Given the description of an element on the screen output the (x, y) to click on. 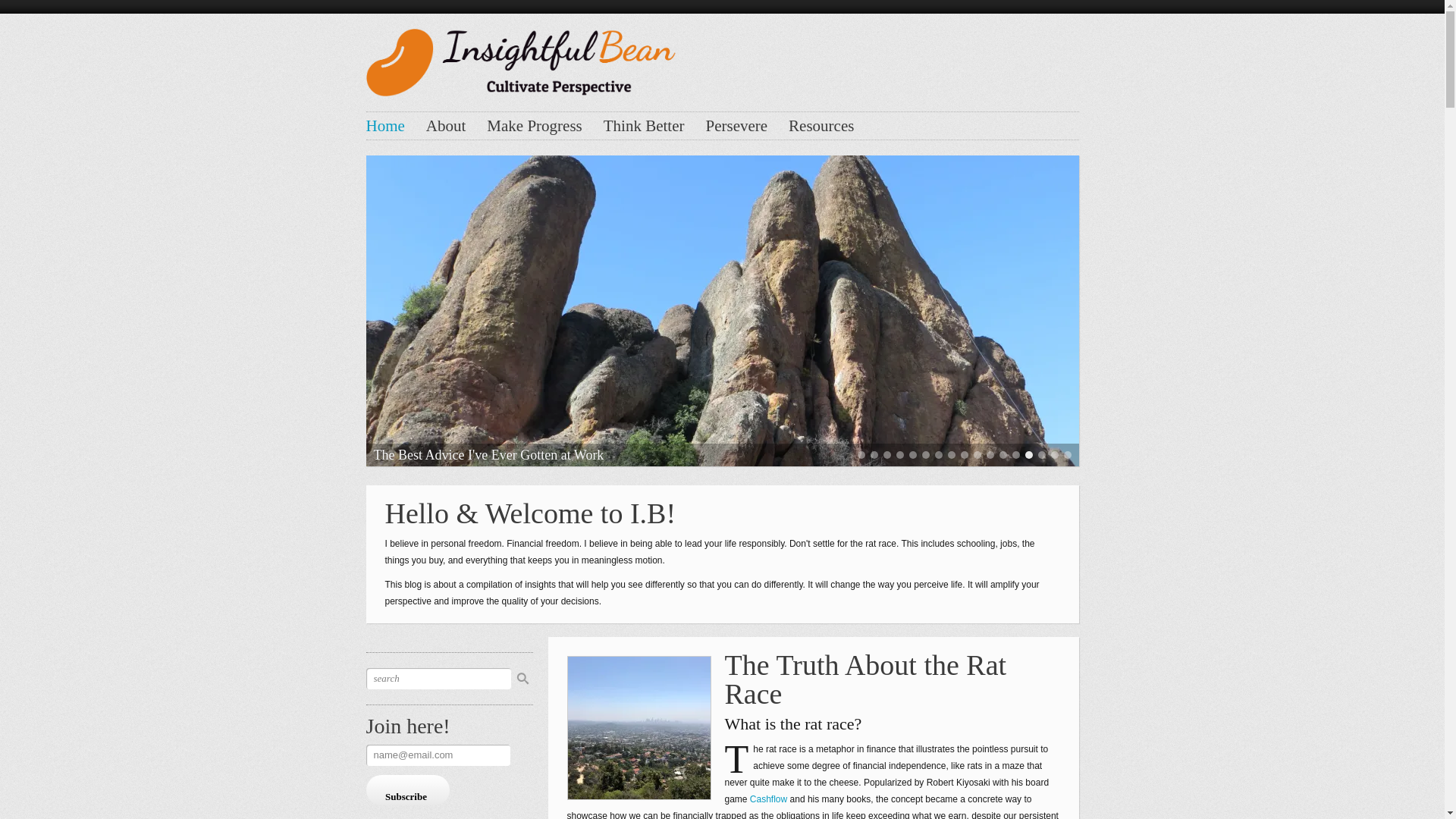
1 (860, 454)
4 (900, 454)
3 (885, 454)
Persevere (735, 125)
About (445, 125)
Resources (821, 125)
7 (938, 454)
Make Progress (533, 125)
The Truth About the Rat Race (866, 679)
2 (873, 454)
6 (925, 454)
Home (384, 125)
Think Better (644, 125)
5 (911, 454)
